Given the description of an element on the screen output the (x, y) to click on. 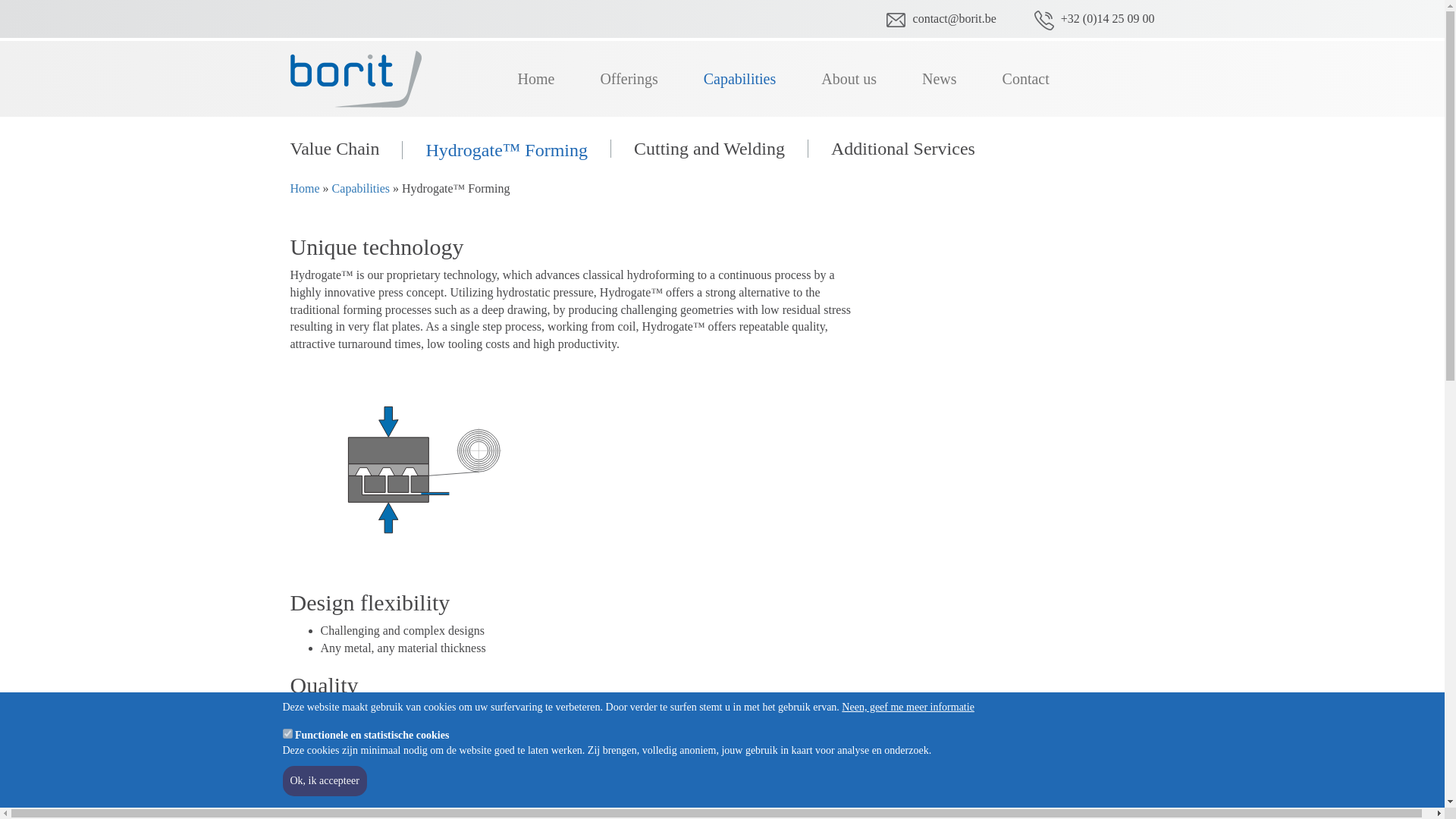
Capabilities Element type: text (739, 78)
Skip to main content Element type: text (0, 0)
Home Element type: hover (360, 78)
About us Element type: text (848, 78)
Home Element type: text (304, 188)
Home Element type: text (535, 78)
contact@borit.be Element type: text (954, 18)
Ok, ik accepteer Element type: text (324, 780)
Neen, geef me meer informatie Element type: text (907, 707)
Additional Services Element type: text (902, 148)
News Element type: text (939, 78)
Contact Element type: text (1025, 78)
Cutting and Welding Element type: text (708, 148)
Offerings Element type: text (628, 78)
Capabilities Element type: text (360, 188)
Value Chain Element type: text (345, 148)
